Given the description of an element on the screen output the (x, y) to click on. 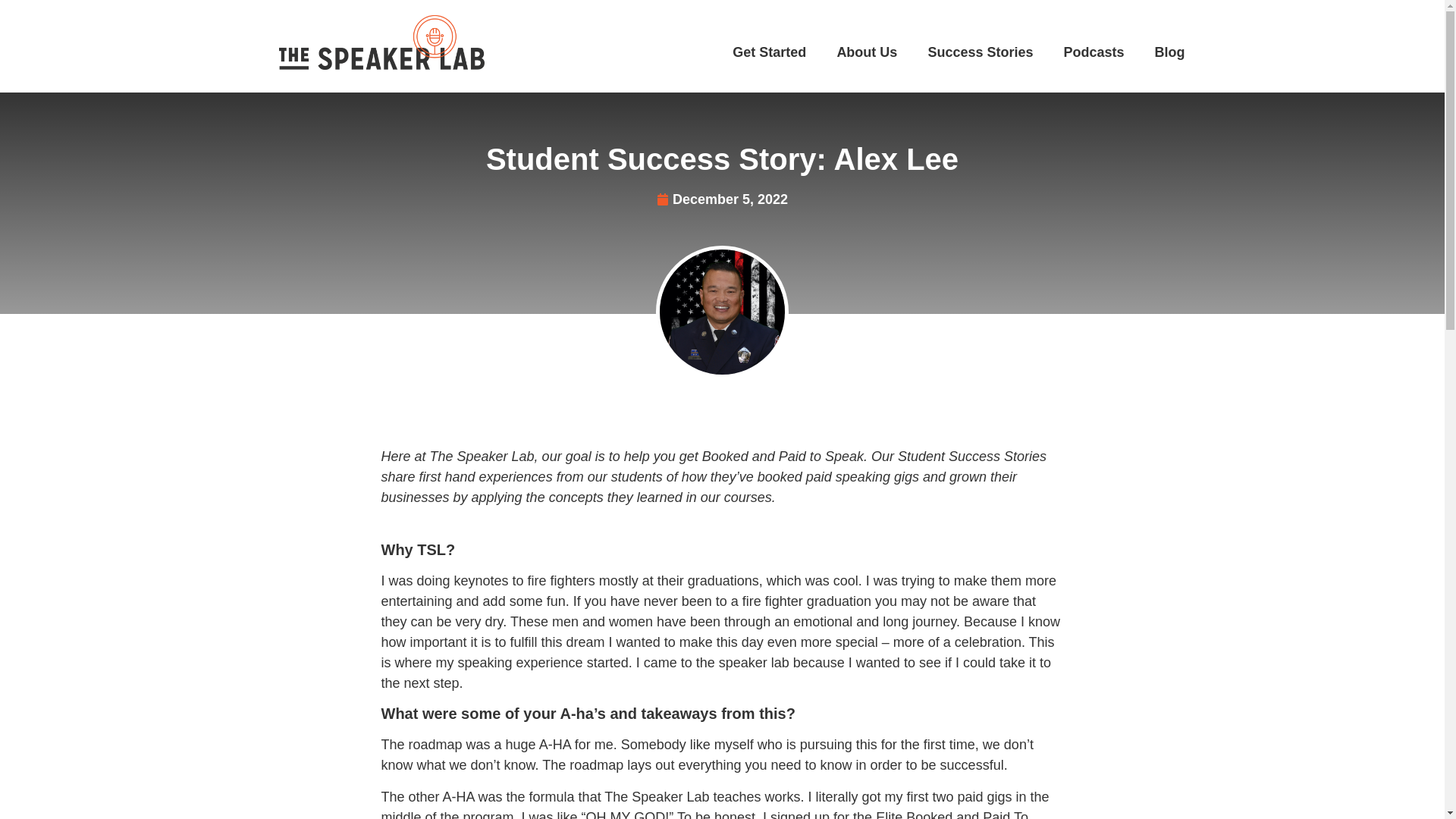
Get Started (769, 52)
Podcasts (1093, 52)
Success Stories (980, 52)
About Us (866, 52)
Blog (1168, 52)
